Given the description of an element on the screen output the (x, y) to click on. 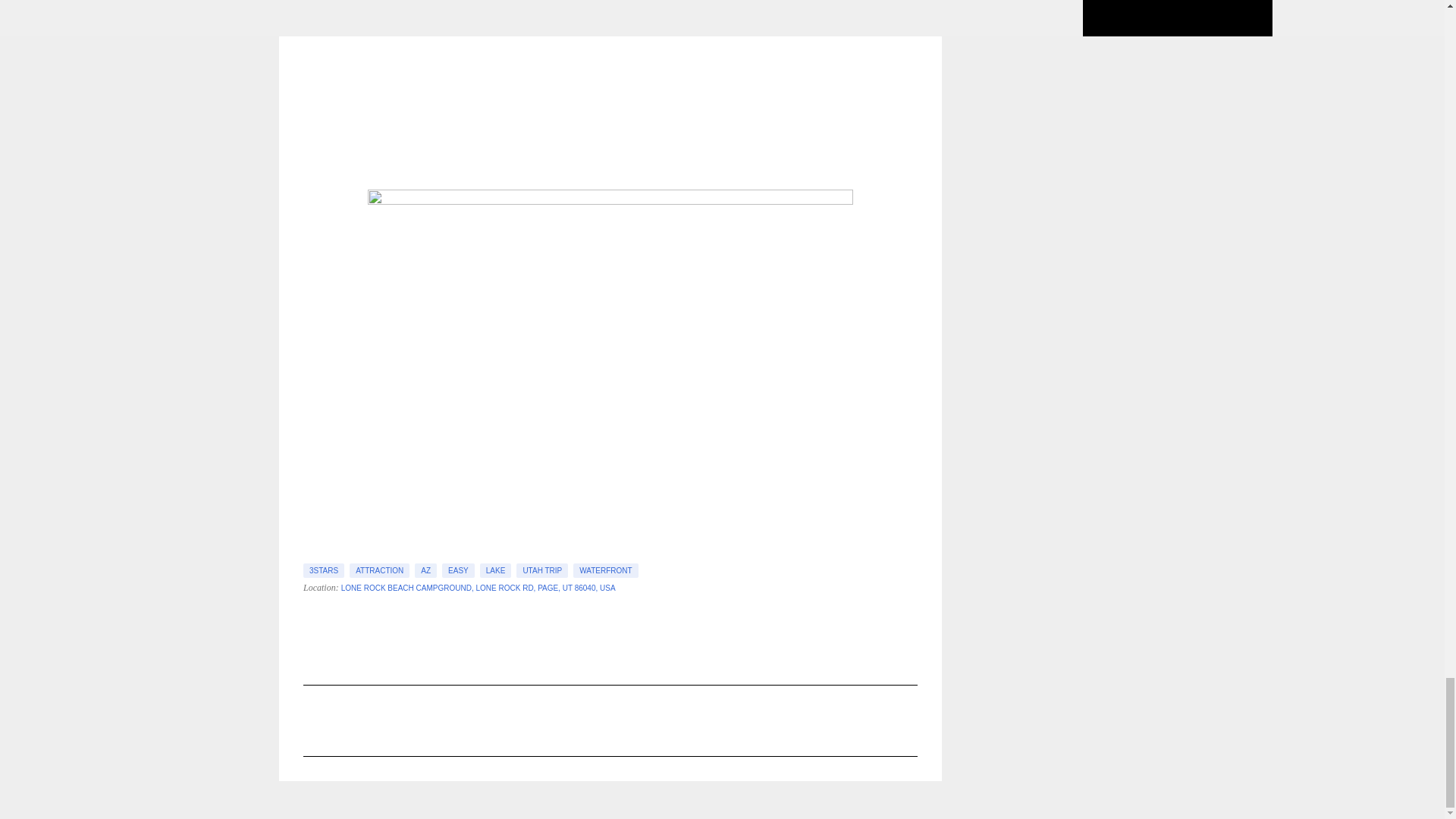
LAKE (496, 570)
WATERFRONT (605, 570)
AZ (425, 570)
3STARS (322, 570)
EASY (458, 570)
ATTRACTION (379, 570)
UTAH TRIP (541, 570)
